Given the description of an element on the screen output the (x, y) to click on. 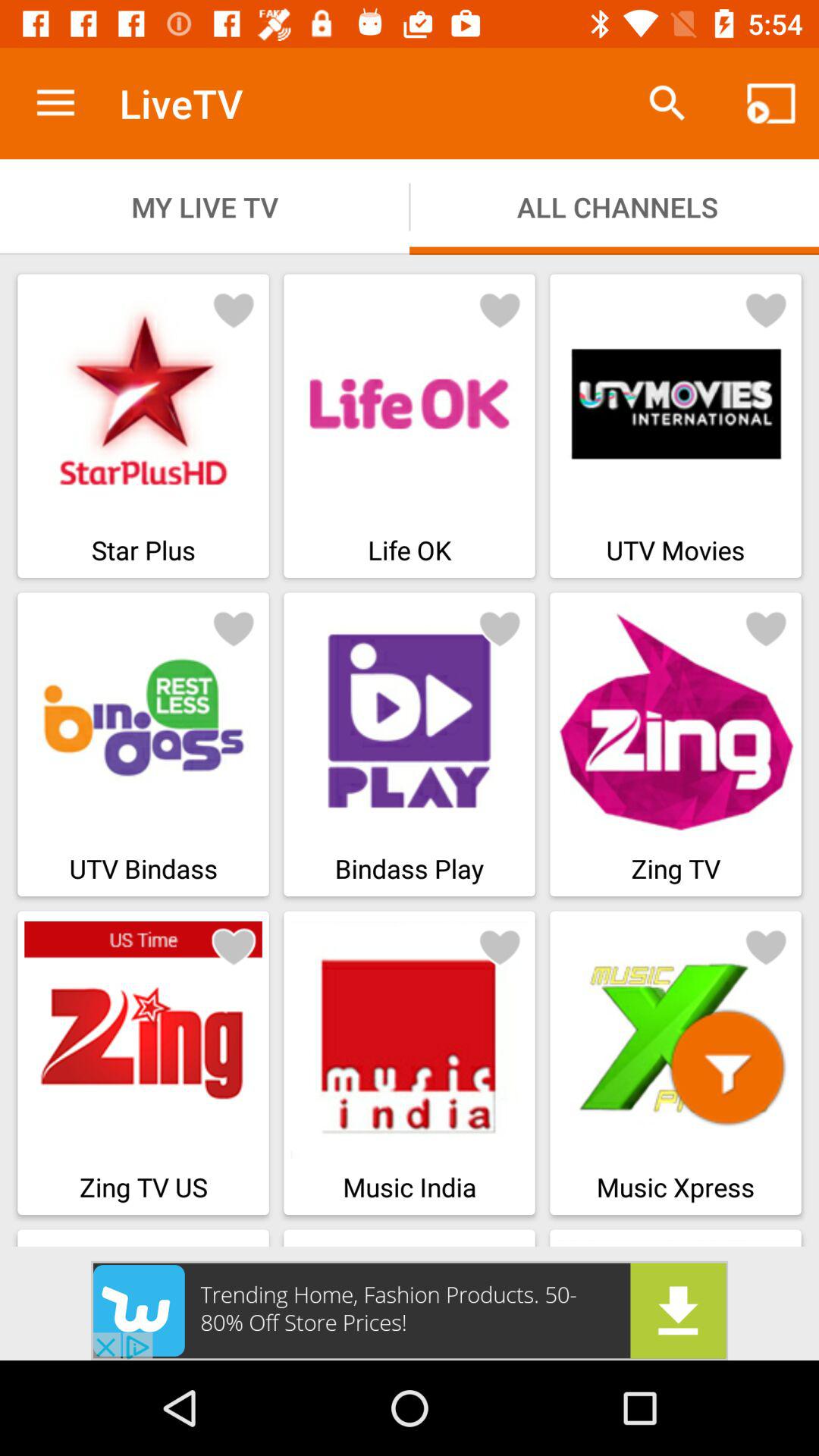
like button (766, 946)
